Given the description of an element on the screen output the (x, y) to click on. 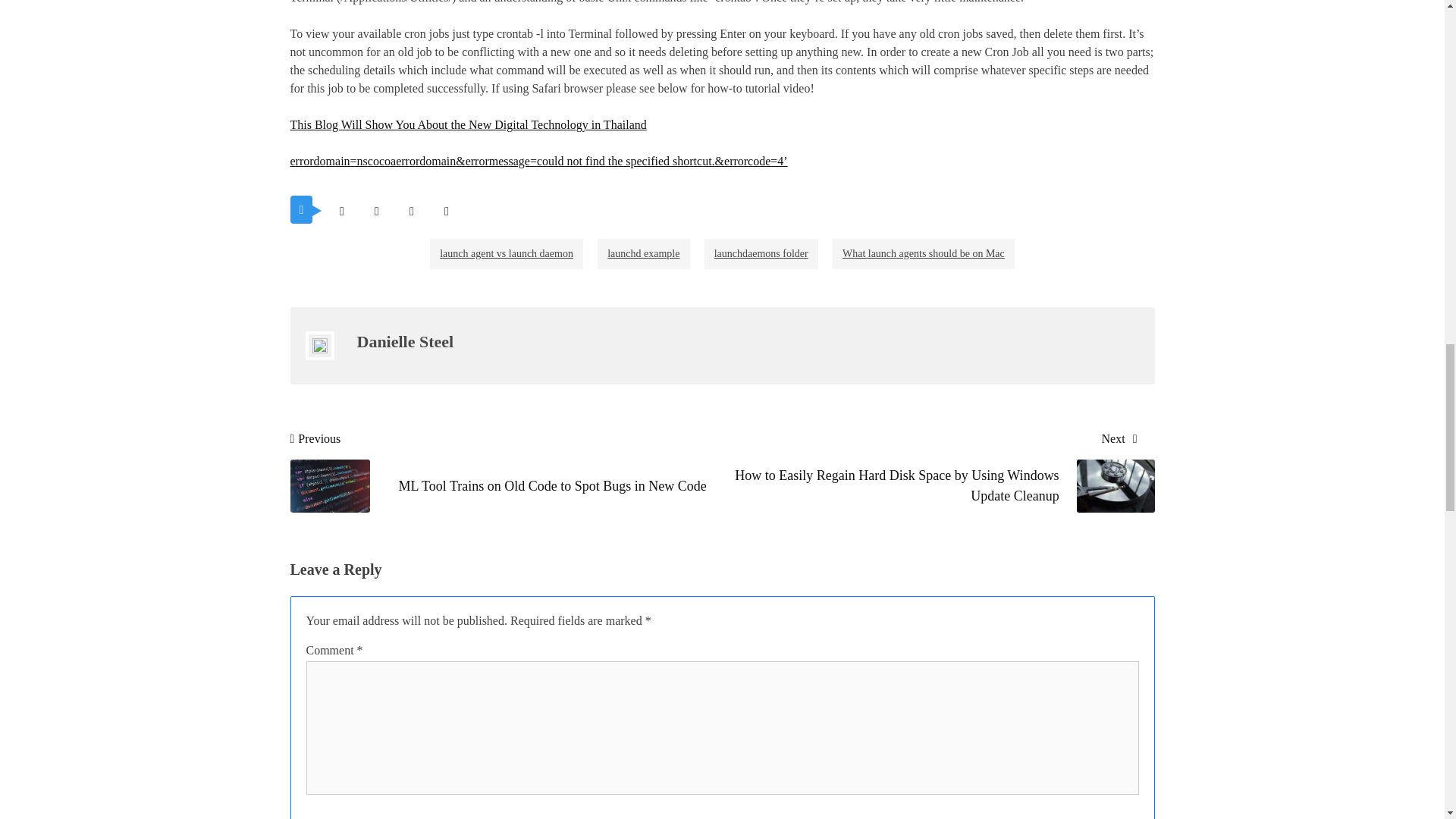
Share on Pinterest (411, 211)
Tweet This! (342, 211)
Share on Linkedin (446, 211)
Share on Facebook (376, 211)
